Given the description of an element on the screen output the (x, y) to click on. 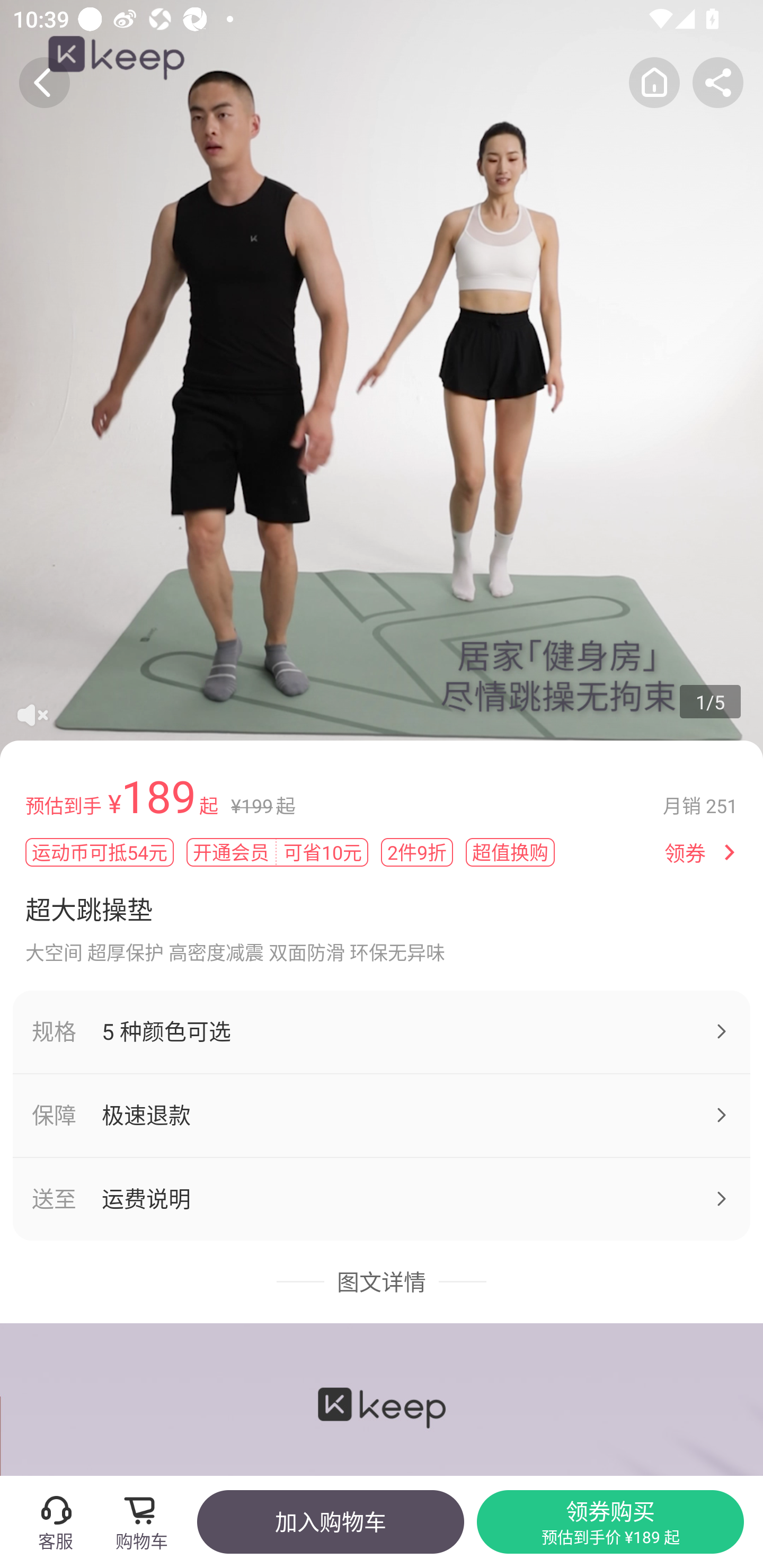
运动币可抵54元 开通会员 可省10元 2件9折 超值换购 (338, 852)
领券 (684, 852)
规格 5 种颜色可选 (381, 1031)
保障 极速退款 (381, 1115)
送至 运费说明 (381, 1199)
客服 (55, 1521)
购物车 (147, 1521)
加入购物车 (329, 1521)
领券购买 预估到手价 ¥189 起 (609, 1521)
